Given the description of an element on the screen output the (x, y) to click on. 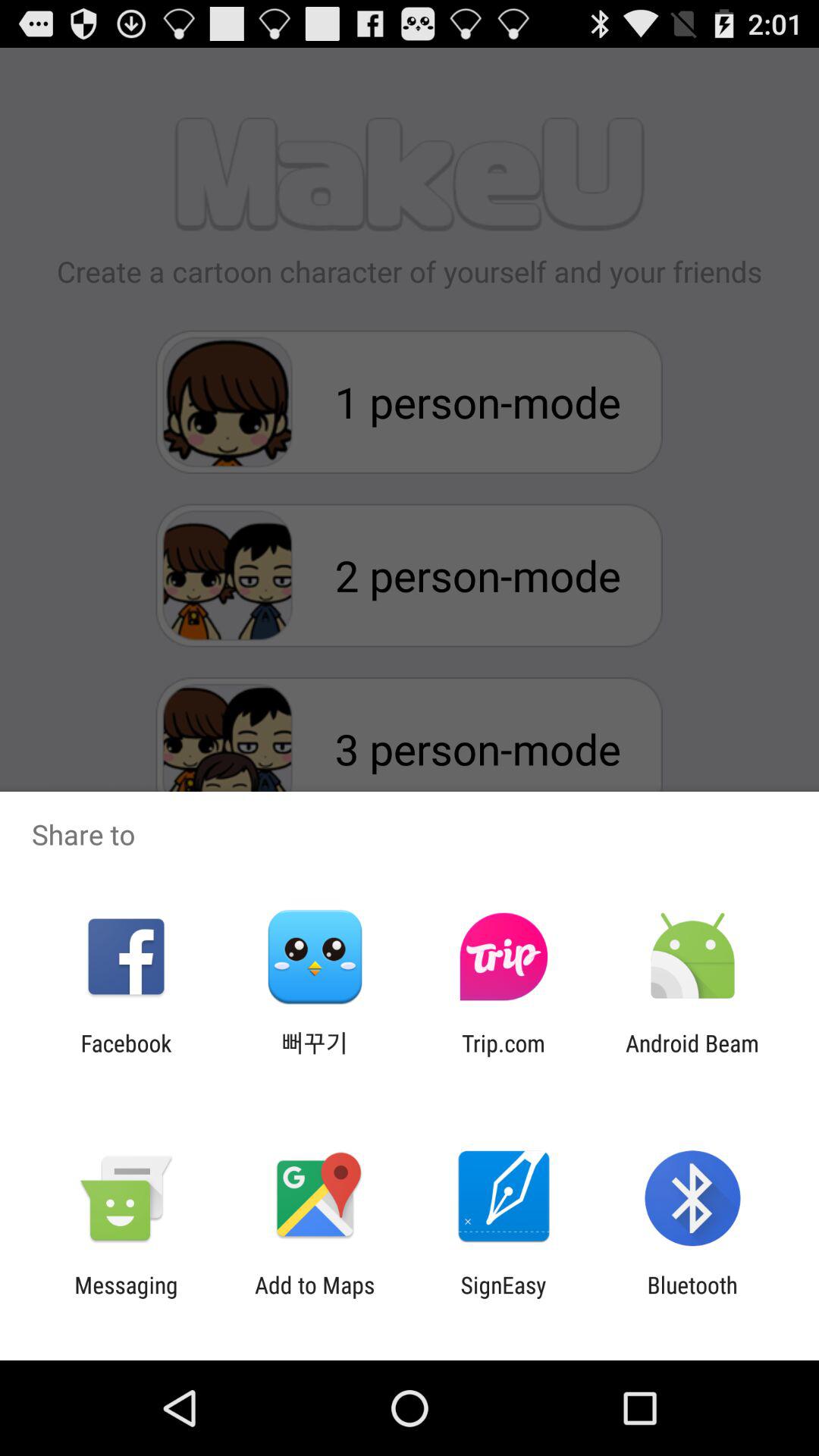
select the item next to the facebook item (314, 1056)
